Given the description of an element on the screen output the (x, y) to click on. 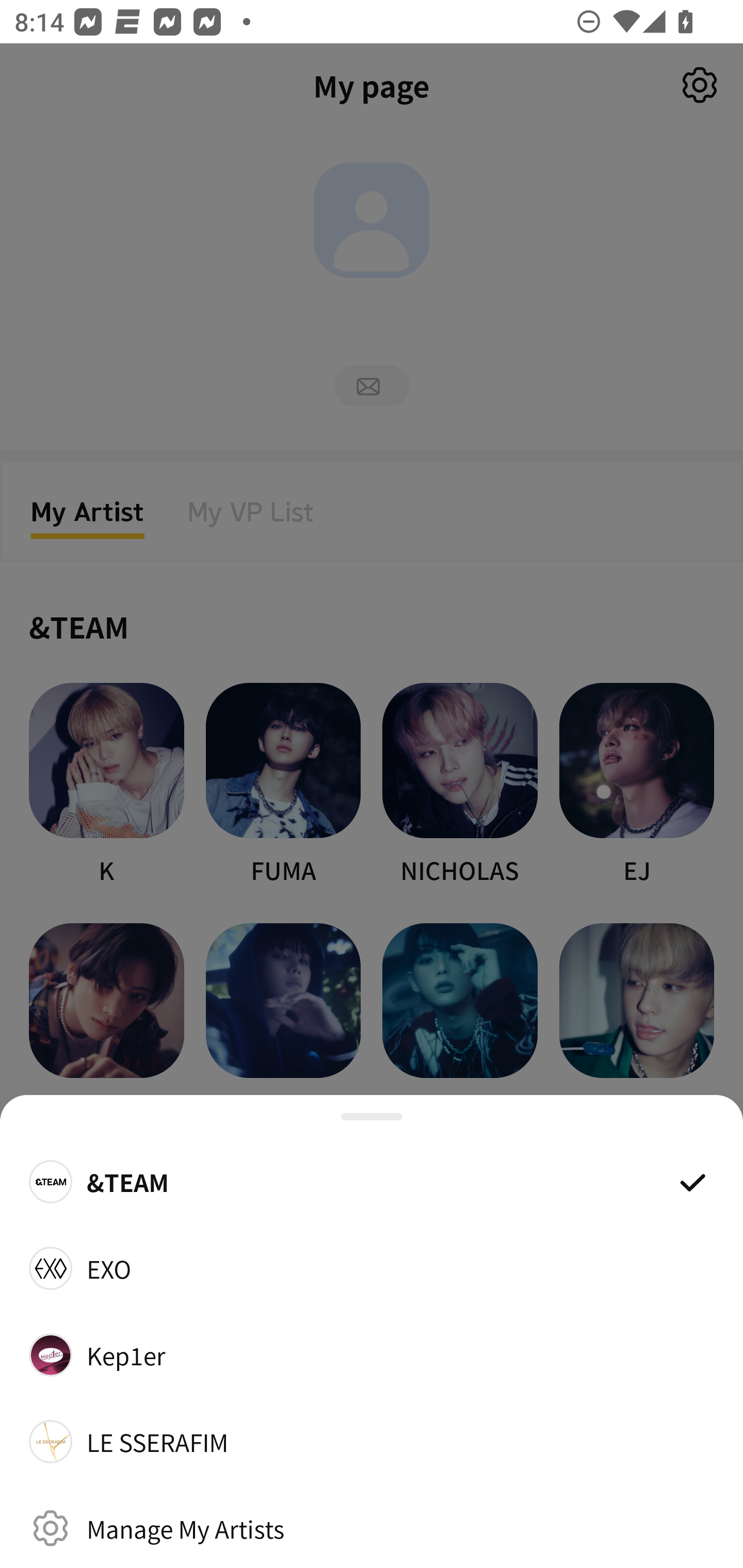
&TEAM (371, 1181)
EXO (371, 1268)
Kep1er (371, 1354)
LE SSERAFIM (371, 1441)
Manage My Artists (371, 1527)
